Given the description of an element on the screen output the (x, y) to click on. 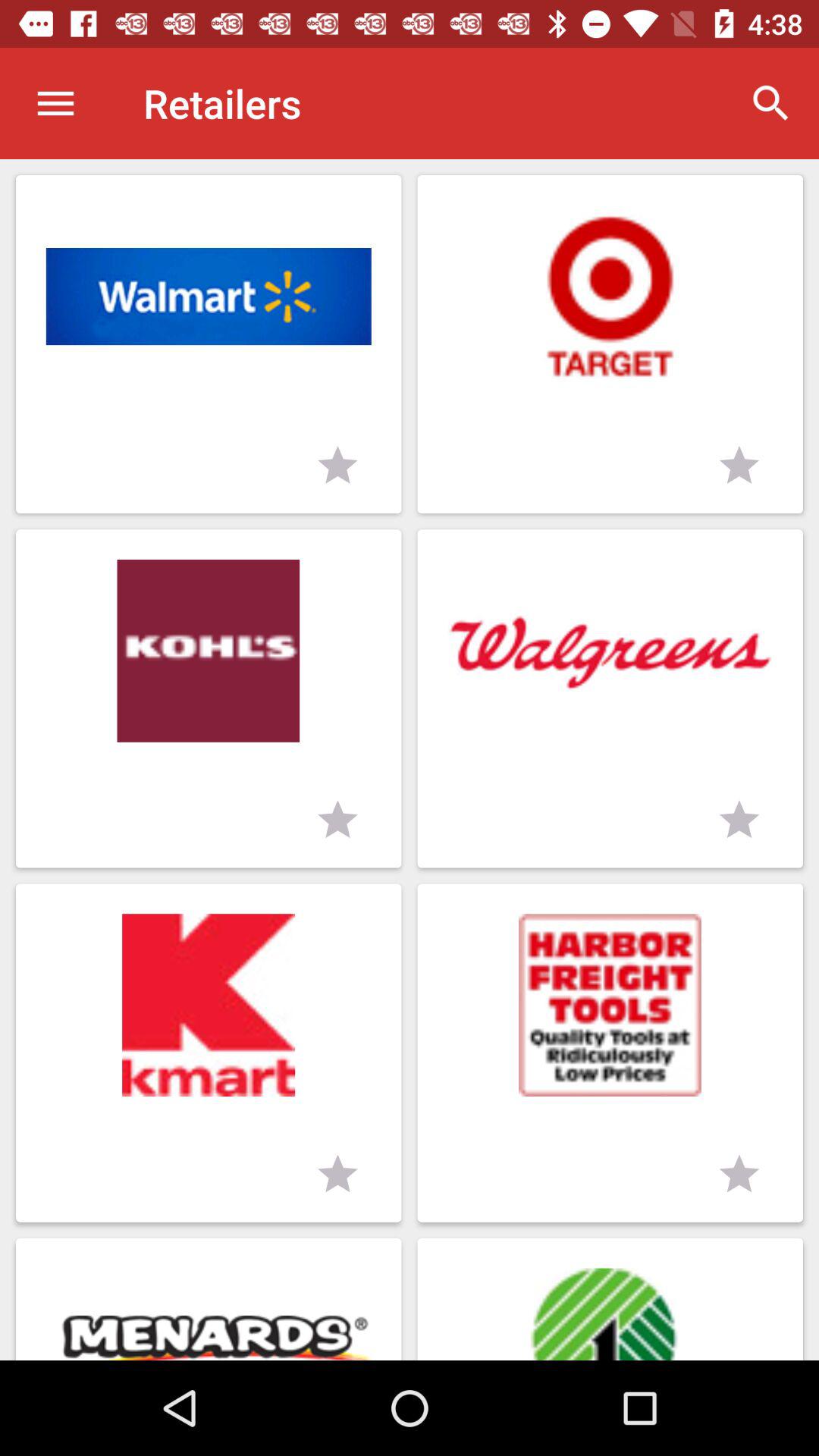
tap icon to the left of retailers icon (55, 103)
